Given the description of an element on the screen output the (x, y) to click on. 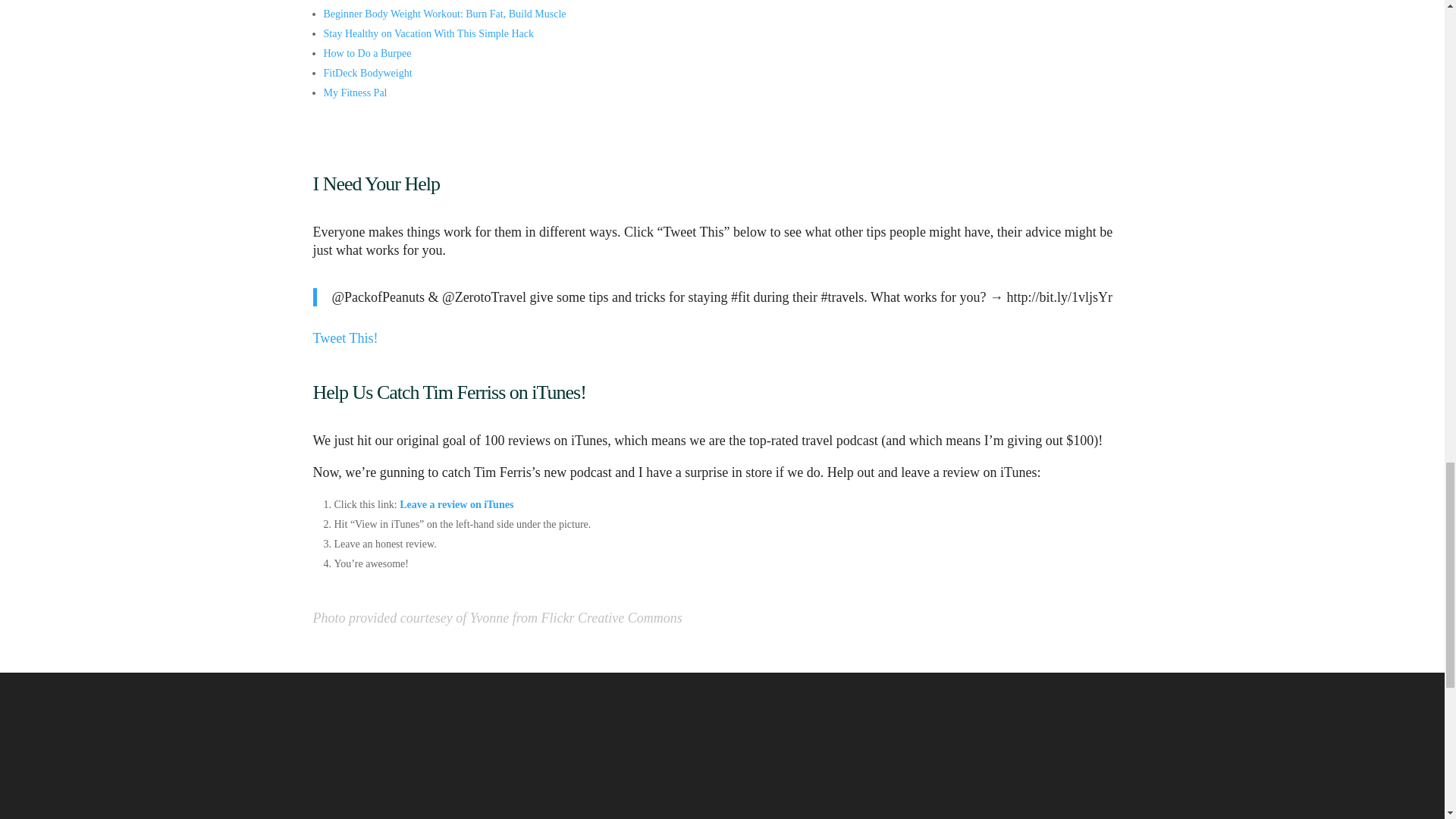
Tweet This! (345, 337)
Stay Healthy on Vacation With This Simple Hack (427, 33)
How to Do a Burpee (366, 52)
Leave a review on iTunes (455, 504)
FitDeck Bodyweight (367, 72)
Yvonne (489, 617)
Beginner Body Weight Workout: Burn Fat, Build Muscle (444, 13)
My Fitness Pal (355, 92)
